Given the description of an element on the screen output the (x, y) to click on. 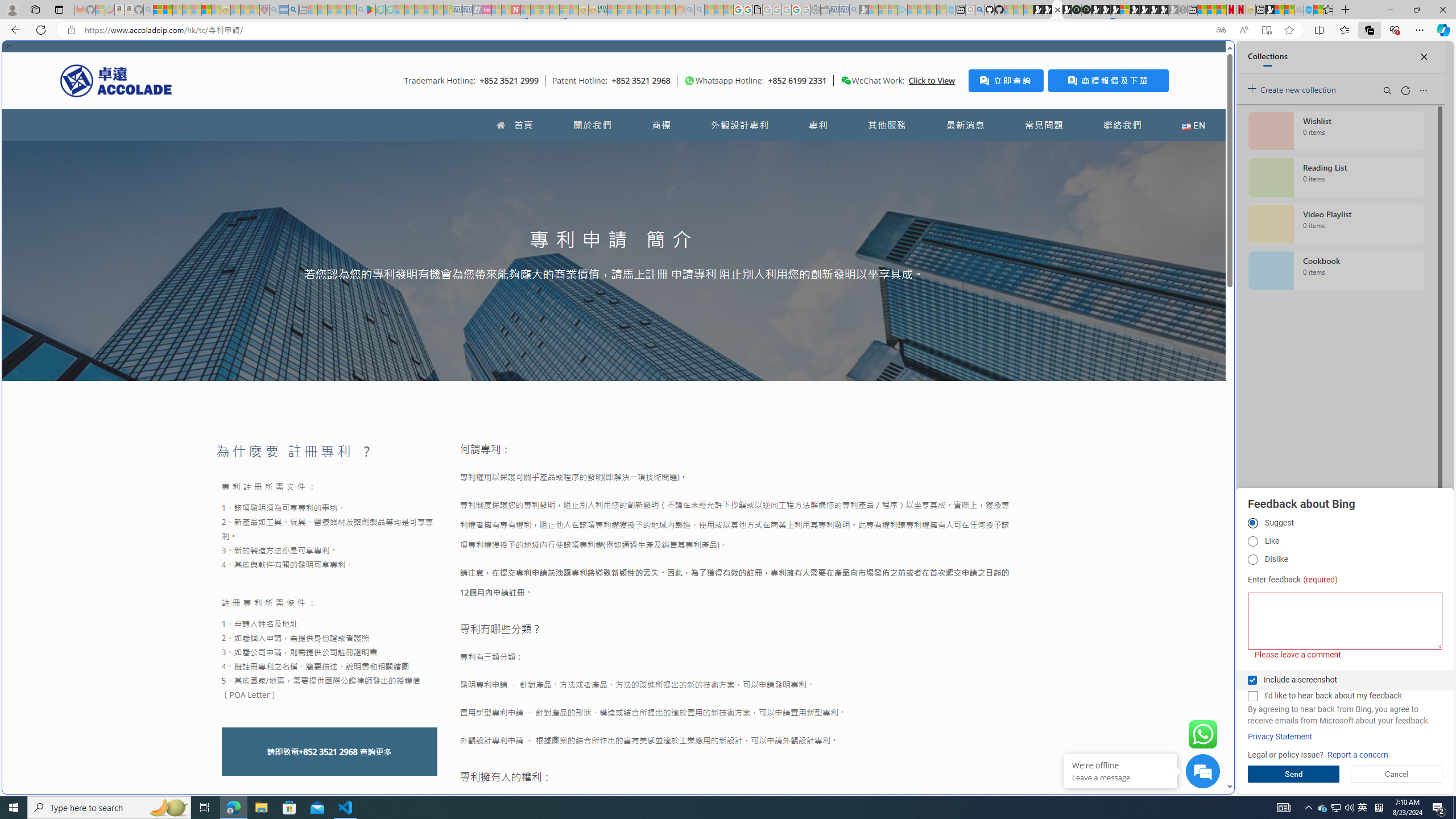
World - MSN (1279, 9)
EN (1193, 124)
Settings - Sleeping (815, 9)
World - MSN (727, 389)
